Given the description of an element on the screen output the (x, y) to click on. 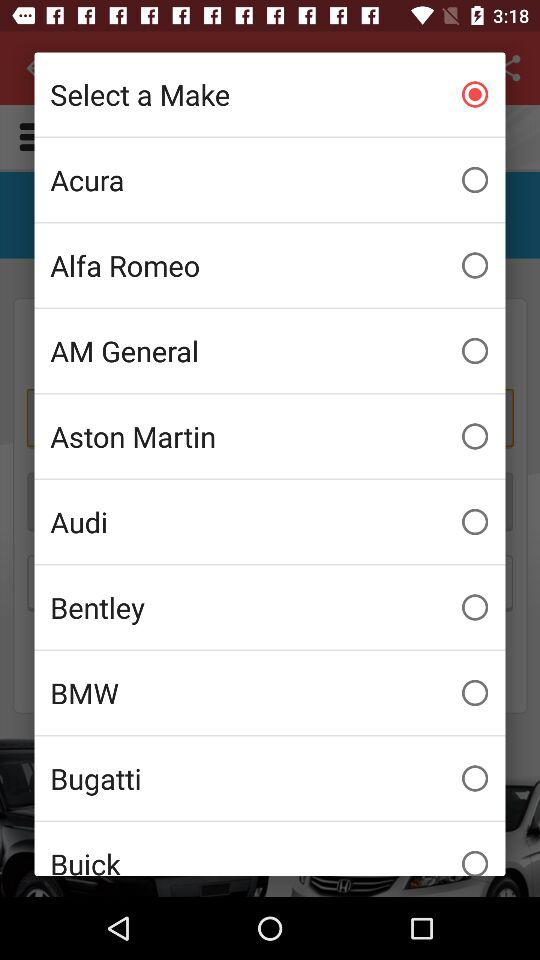
select aston martin item (269, 436)
